Given the description of an element on the screen output the (x, y) to click on. 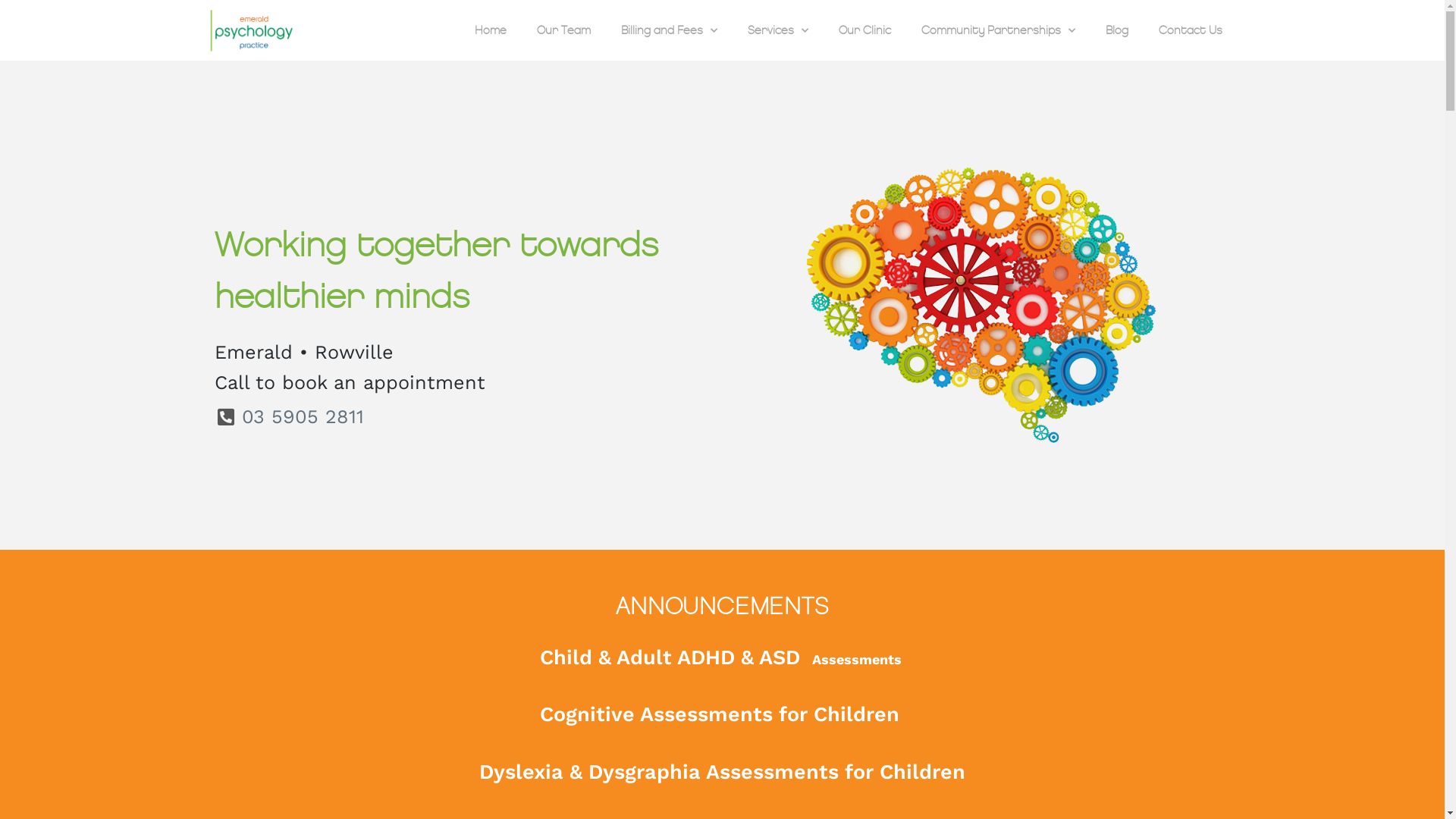
Services Element type: text (777, 30)
Billing and Fees Element type: text (668, 30)
Contact Us Element type: text (1190, 30)
Home Element type: text (490, 30)
03 5905 2811 Element type: text (463, 416)
Our Team Element type: text (563, 30)
Blog Element type: text (1116, 30)
Our Clinic Element type: text (864, 30)
Community Partnerships Element type: text (998, 30)
